Given the description of an element on the screen output the (x, y) to click on. 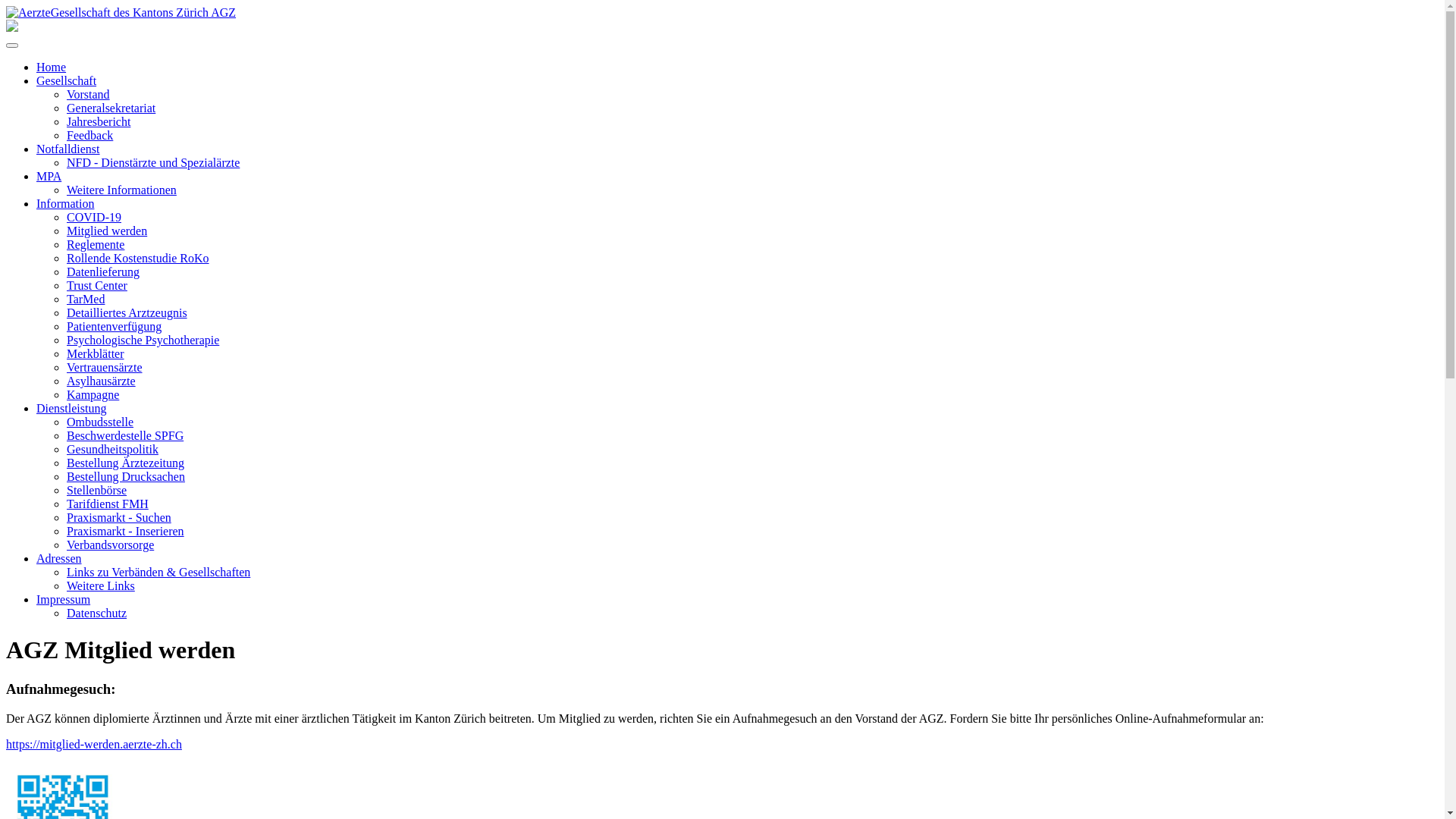
Psychologische Psychotherapie Element type: text (142, 339)
Jahresbericht Element type: text (98, 121)
Praxismarkt - Inserieren Element type: text (125, 530)
Weitere Links Element type: text (100, 585)
Praxismarkt - Suchen Element type: text (118, 517)
COVID-19 Element type: text (93, 216)
Datenlieferung Element type: text (102, 271)
Vorstand Element type: text (87, 93)
Weitere Informationen Element type: text (121, 189)
MPA Element type: text (48, 175)
Generalsekretariat Element type: text (110, 107)
Impressum Element type: text (63, 599)
Home Element type: text (50, 66)
Detailliertes Arztzeugnis Element type: text (126, 312)
Datenschutz Element type: text (96, 612)
TarMed Element type: text (85, 298)
Dienstleistung Element type: text (71, 407)
Rollende Kostenstudie RoKo Element type: text (137, 257)
Gesellschaft Element type: text (66, 80)
Reglemente Element type: text (95, 244)
Verbandsvorsorge Element type: text (109, 544)
Notfalldienst Element type: text (68, 148)
Feedback Element type: text (89, 134)
Adressen Element type: text (58, 558)
https://mitglied-werden.aerzte-zh.ch Element type: text (94, 743)
Bestellung Drucksachen Element type: text (125, 476)
Mitglied werden Element type: text (106, 230)
Information Element type: text (65, 203)
Trust Center Element type: text (96, 285)
Tarifdienst FMH Element type: text (107, 503)
Beschwerdestelle SPFG Element type: text (124, 435)
Ombudsstelle Element type: text (99, 421)
Kampagne Element type: text (92, 394)
Gesundheitspolitik Element type: text (112, 448)
